Given the description of an element on the screen output the (x, y) to click on. 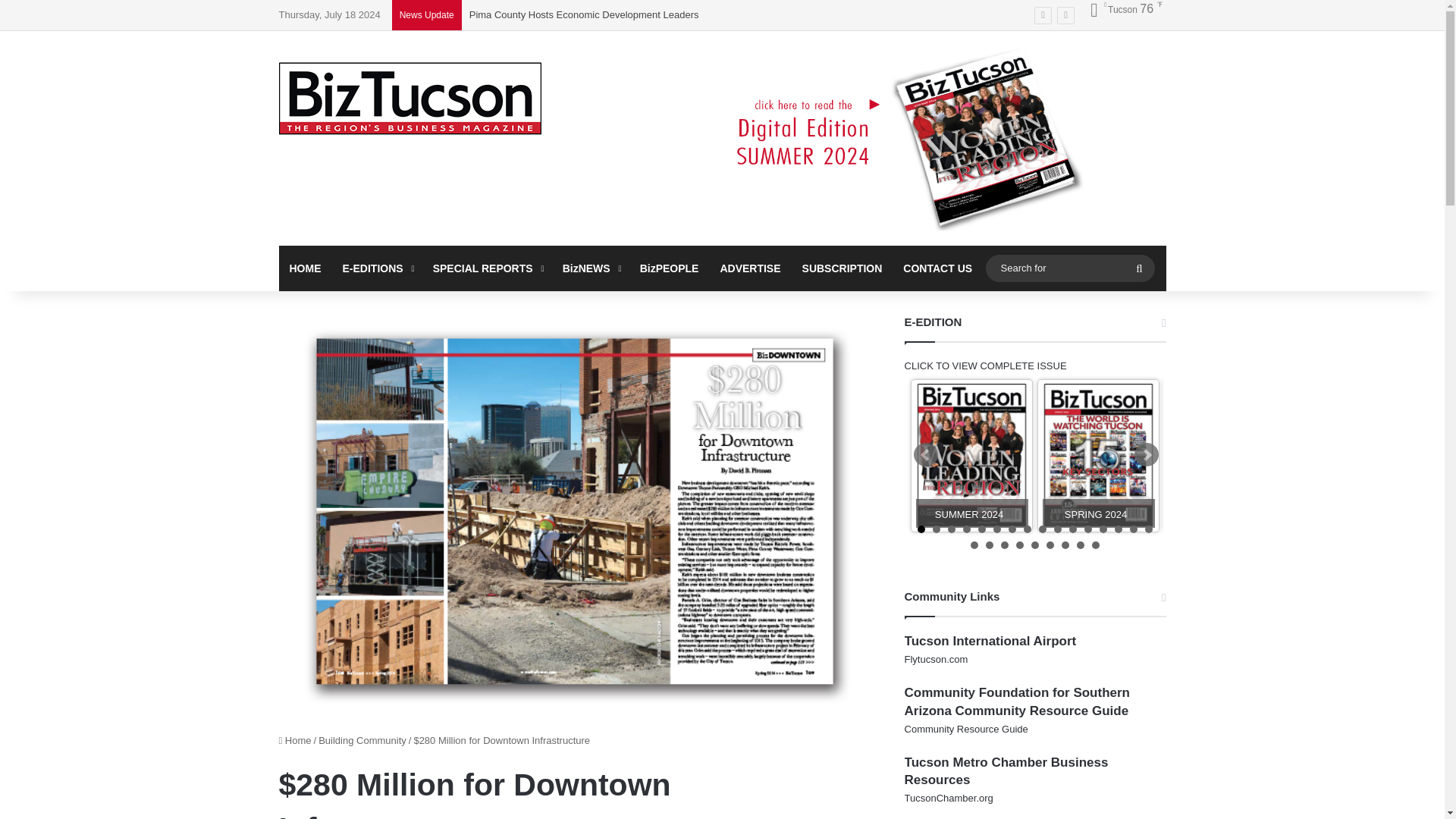
Rain (1120, 9)
E-EDITIONS (376, 268)
HOME (305, 268)
Pima County Hosts Economic Development Leaders (583, 14)
BizTUCSON (410, 99)
Search for (1069, 267)
